Given the description of an element on the screen output the (x, y) to click on. 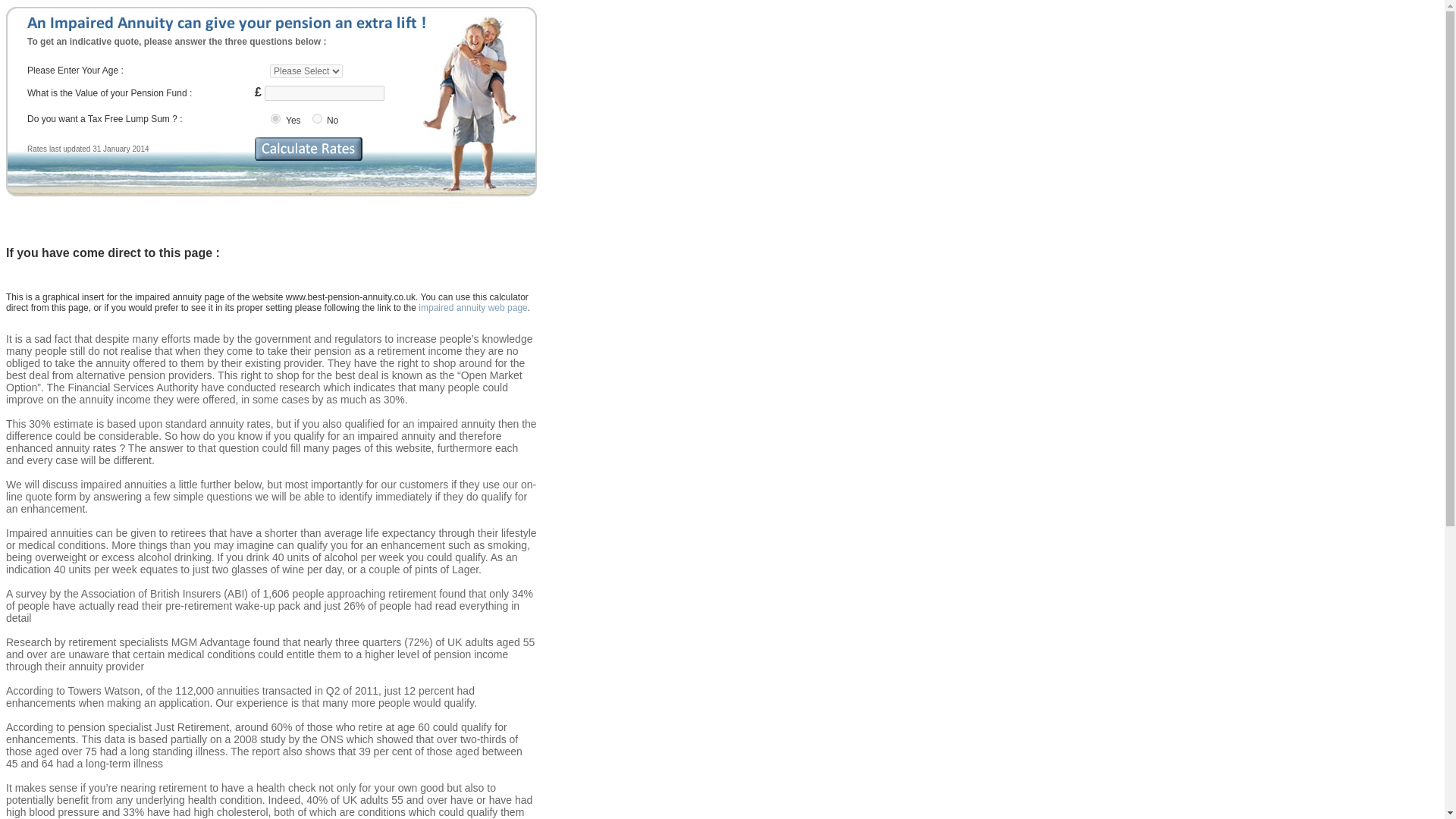
impaired annuity web page (473, 307)
1 (275, 118)
2 (317, 118)
